Given the description of an element on the screen output the (x, y) to click on. 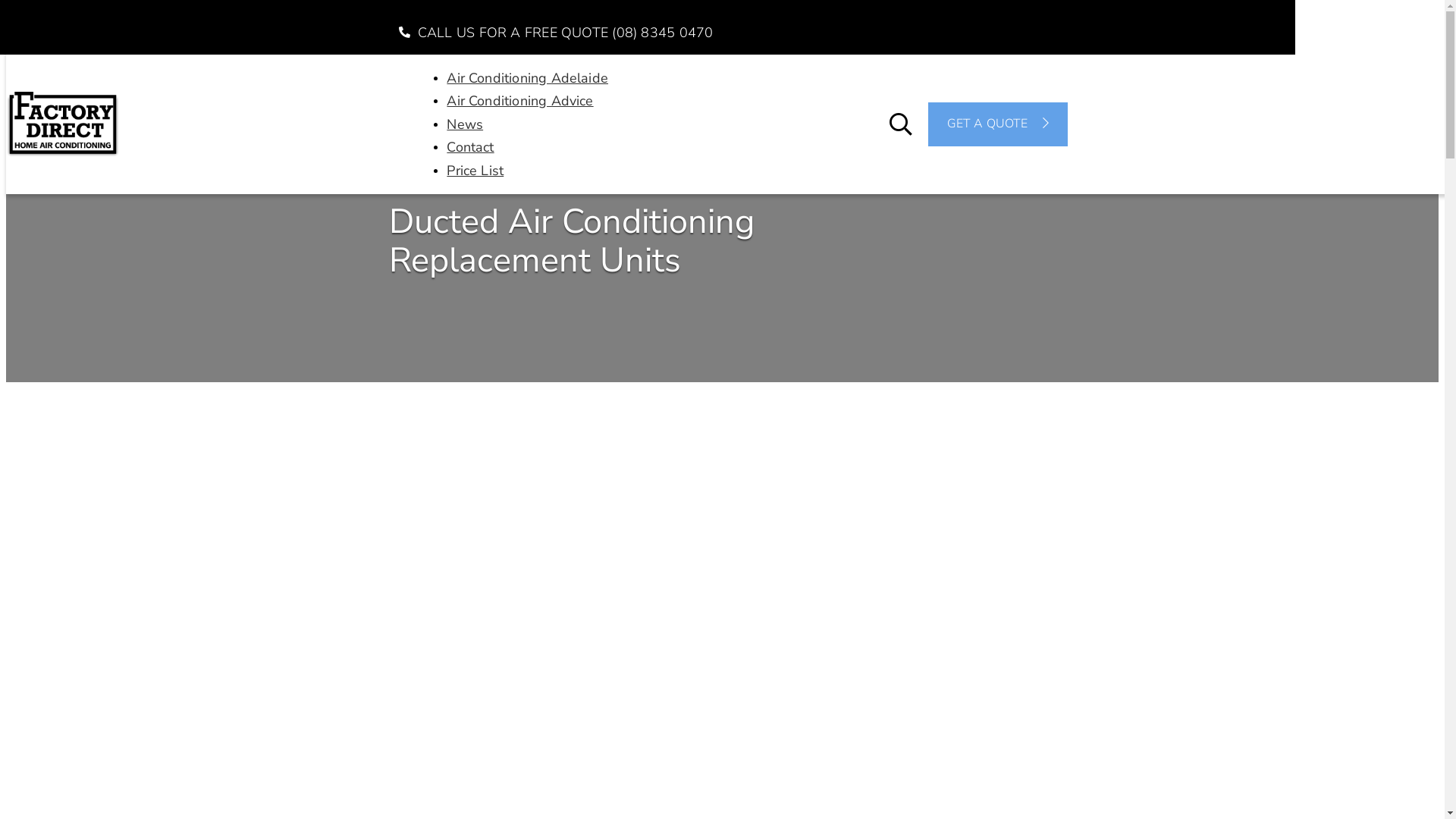
Search Element type: text (55, 15)
CALL US FOR A FREE QUOTE (08) 8345 0470 Element type: text (552, 32)
GET A QUOTE Element type: text (990, 123)
News Element type: text (464, 124)
Contact Element type: text (469, 147)
Air Conditioning Adelaide Element type: text (527, 77)
Air Conditioning Advice Element type: text (519, 100)
Price List Element type: text (474, 170)
